Given the description of an element on the screen output the (x, y) to click on. 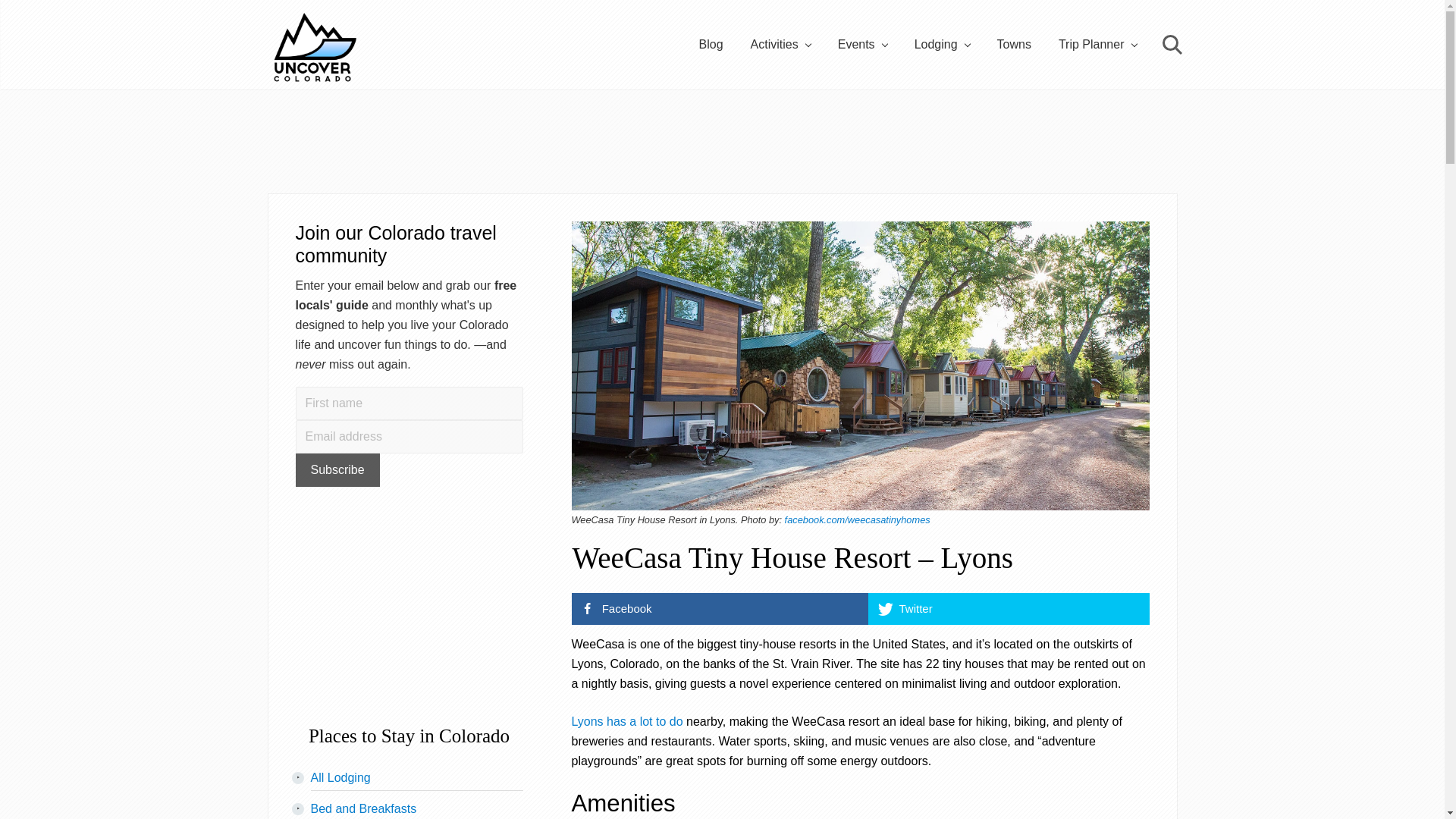
Activities (780, 44)
Colorado Trip Ideas (1097, 44)
Subscribe (337, 469)
Colorado Travel Blog (711, 44)
Colorado Hotels and Lodging (341, 777)
Colorado Bed and Breakfasts (363, 808)
Blog (711, 44)
Things to do in Lyons, CO (627, 721)
